Given the description of an element on the screen output the (x, y) to click on. 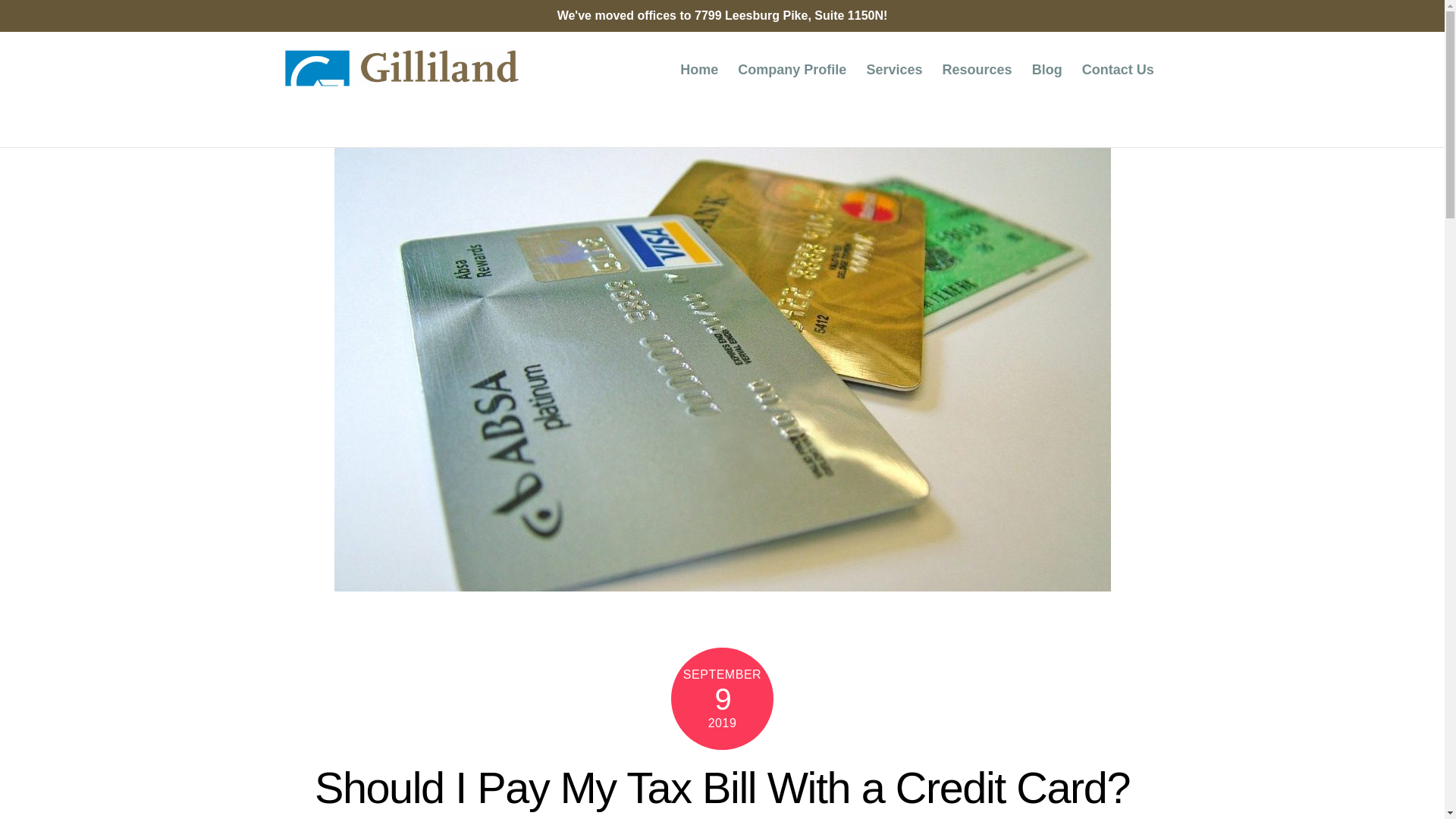
Blog (1046, 69)
Services (895, 69)
Contact Us (1117, 69)
Resources (977, 69)
Home (698, 69)
Should I Pay My Tax Bill With a Credit Card? (721, 787)
Company Profile (793, 69)
